Given the description of an element on the screen output the (x, y) to click on. 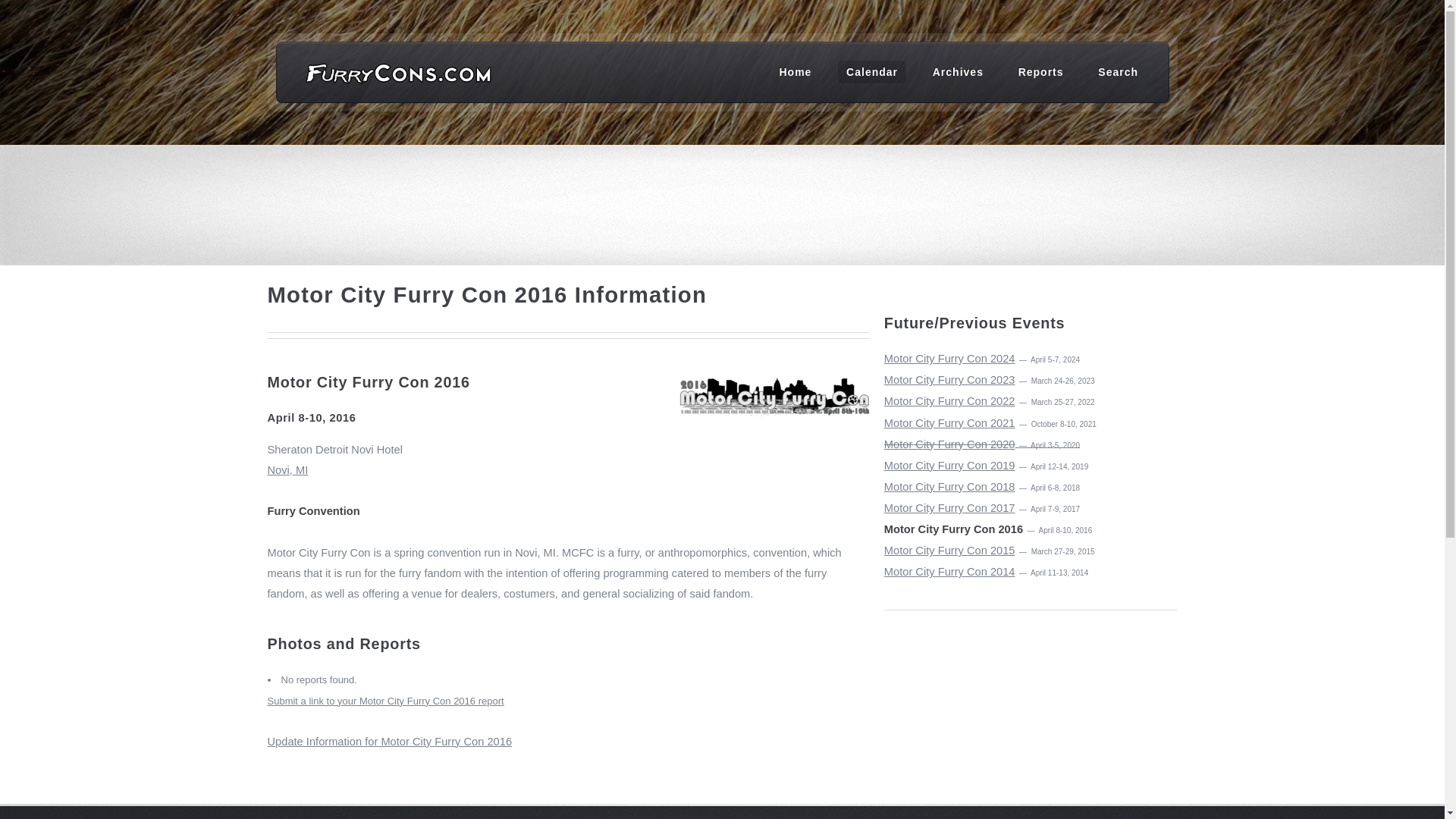
Motor City Furry Con 2023 (948, 379)
Motor City Furry Con 2019 (948, 465)
Novi, MI (566, 480)
3rd party ad content (722, 196)
Search (1118, 71)
Archives (957, 71)
Motor City Furry Con 2015 (948, 550)
Motor City Furry Con 2024 (948, 358)
Motor City Furry Con 2018 (948, 486)
Update Information for Motor City Furry Con 2016 (389, 741)
Motor City Furry Con 2021 (948, 422)
Submit a link to your Motor City Furry Con 2016 report (384, 700)
Calendar (871, 71)
Motor City Furry Con 2014 (948, 571)
Motor City Furry Con 2022 (948, 400)
